Given the description of an element on the screen output the (x, y) to click on. 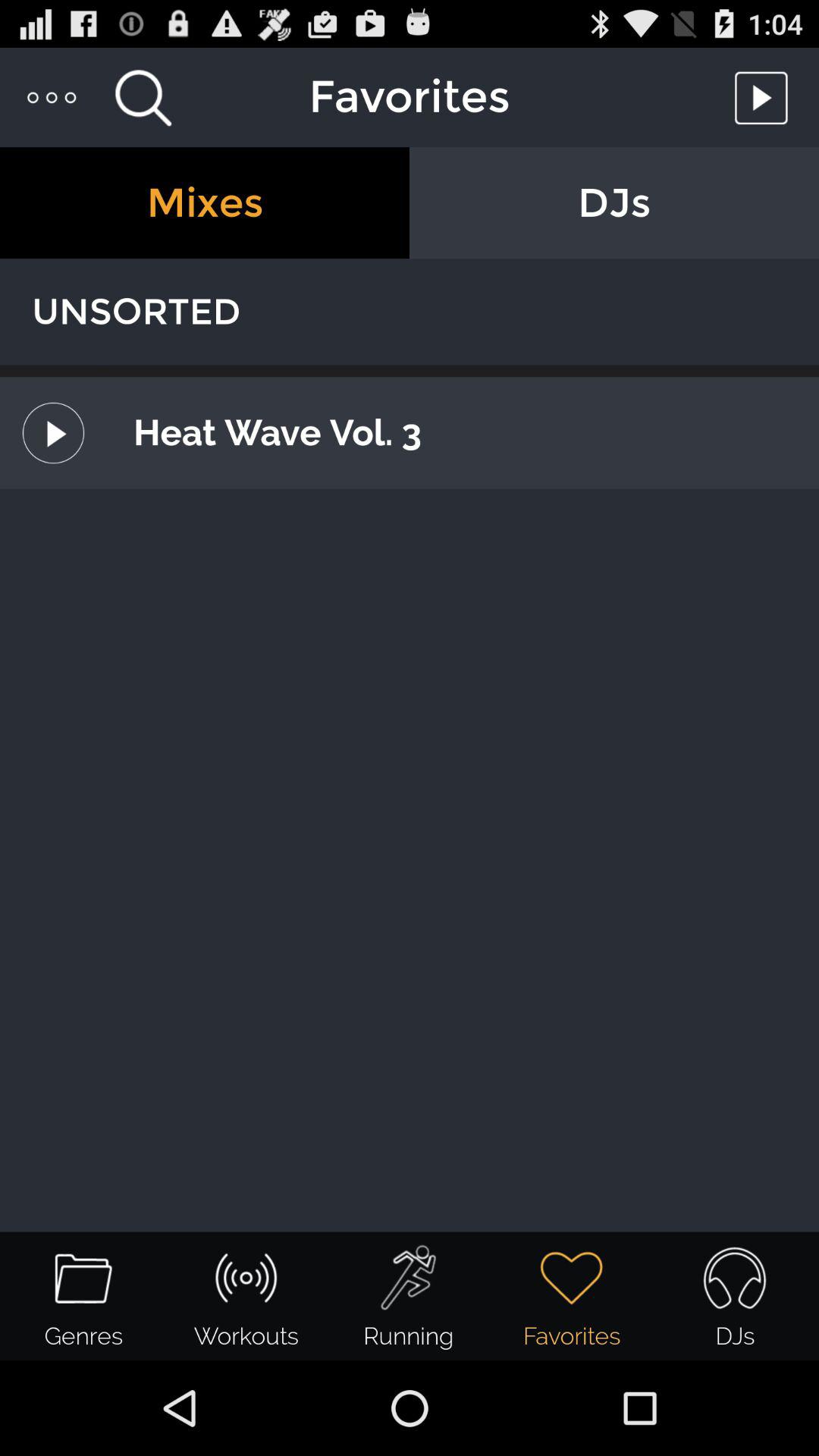
view options (52, 97)
